Given the description of an element on the screen output the (x, y) to click on. 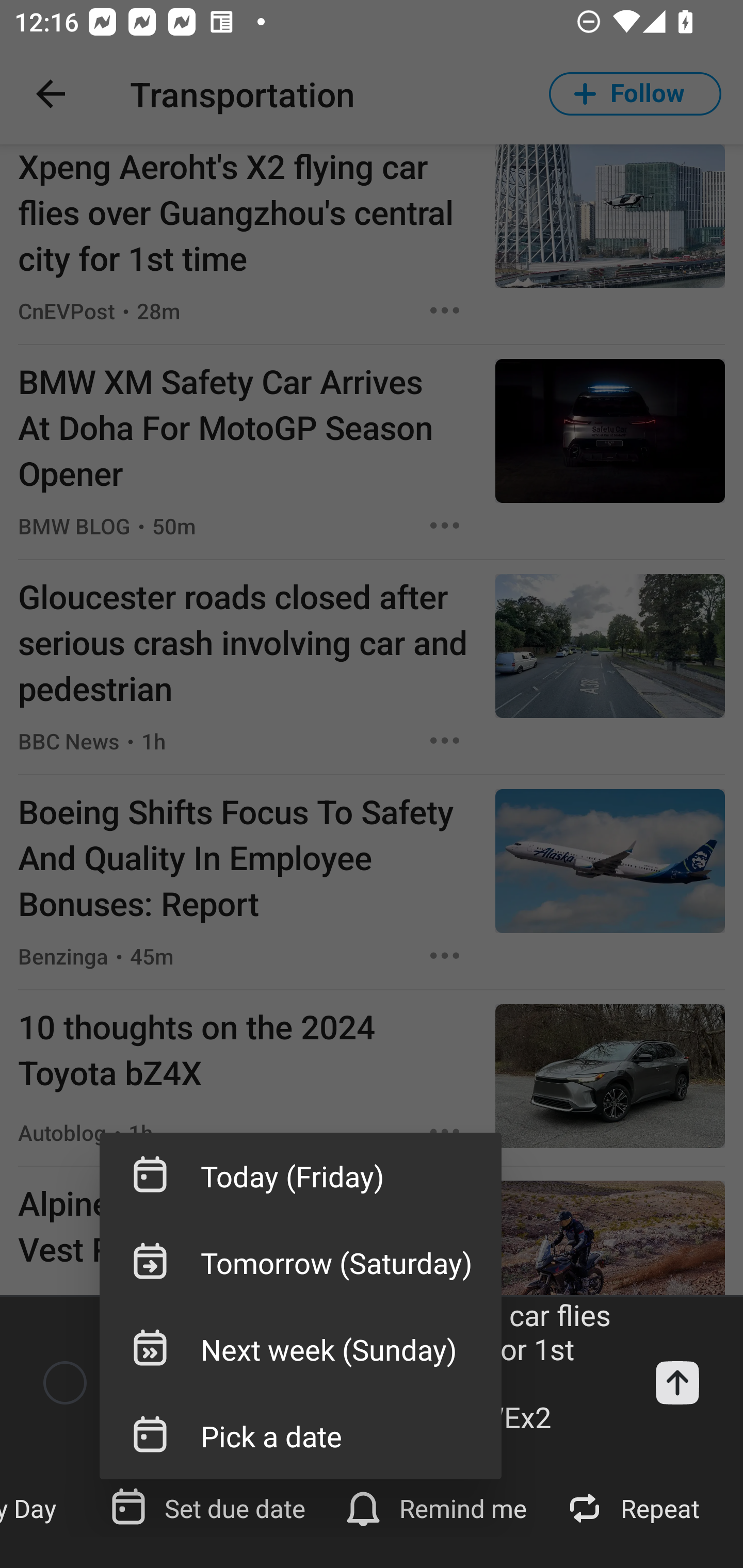
Today (Friday)1 in 4 Today (Friday) (300, 1175)
Tomorrow (Saturday)2 in 4 Tomorrow (Saturday) (300, 1262)
Next week (Sunday)3 in 4 Next week (Sunday) (300, 1349)
Pick a date4 in 4 Pick a date (300, 1435)
